Given the description of an element on the screen output the (x, y) to click on. 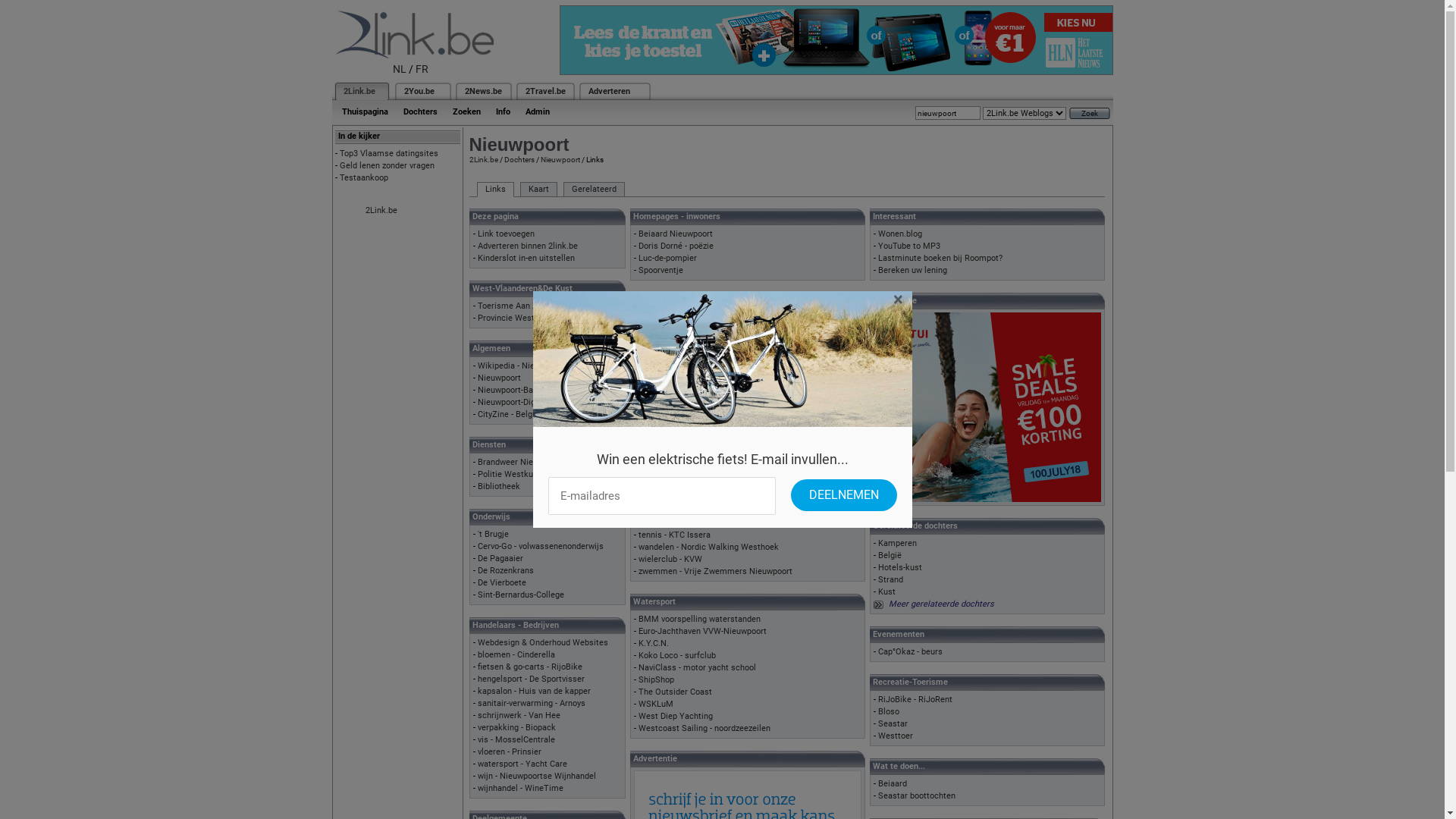
K.Y.C.N. Element type: text (653, 643)
BMM voorspelling waterstanden Element type: text (699, 619)
Seastar Element type: text (892, 723)
Reuzengilde Nieuwpoort Element type: text (683, 426)
zwemmen - Vrije Zwemmers Nieuwpoort Element type: text (715, 571)
West Diep Yachting Element type: text (675, 716)
tafeltennis Element type: text (658, 522)
Webdesign & Onderhoud Websites Element type: text (542, 642)
Strand Element type: text (890, 579)
Testaankoop Element type: text (363, 177)
Hotels-kust Element type: text (900, 567)
Adverteren binnen 2link.be Element type: text (527, 246)
vis - MosselCentrale Element type: text (516, 739)
CityZine - Belgische Kust Element type: text (524, 414)
Meer gerelateerde dochters Element type: text (941, 603)
Slotracing Element type: text (657, 450)
Chiro - De Branding Element type: text (674, 318)
2Travel.be Element type: text (544, 91)
2Link.be Element type: text (358, 91)
Zoek Element type: text (1089, 113)
Kinderslot in-en uitstellen Element type: text (525, 258)
Natuurpunt Westkust Element type: text (678, 402)
Lastminute boeken bij Roompot? Element type: text (940, 258)
2Link.be Element type: text (381, 210)
Provincie West-Vlaanderen Element type: text (528, 318)
taekwondo - Chindojang Element type: text (683, 510)
Nieuwpoort Element type: text (559, 159)
Links Element type: text (494, 189)
Nieuwpoort-Digitaal Element type: text (514, 402)
't Brugje Element type: text (492, 534)
Westcoast Sailing - noordzeezeilen Element type: text (704, 728)
RiJoBike - RiJoRent Element type: text (915, 699)
ShipShop Element type: text (656, 679)
Politie Westkust Element type: text (508, 474)
2News.be Element type: text (482, 91)
Bereken uw lening Element type: text (912, 270)
fietsen & go-carts - RijoBike Element type: text (529, 666)
De Rozenkrans Element type: text (505, 570)
tennis - KTC Issera Element type: text (674, 534)
Sint-Bernardus-College Element type: text (520, 594)
5-art Element type: text (646, 390)
Luc-de-pompier Element type: text (667, 258)
schrijnwerk - Van Hee Element type: text (518, 715)
Thuispagina Element type: text (364, 111)
Cervo-Go - volwassenenonderwijs Element type: text (540, 546)
Wonen.blog Element type: text (900, 233)
Zoeken Element type: text (465, 111)
Bloso Element type: text (888, 711)
Top3 Vlaamse datingsites Element type: text (388, 153)
Dochters Element type: text (518, 159)
2You.be Element type: text (418, 91)
Wikipedia - Nieuwpoort Element type: text (520, 365)
hengelsport - De Sportvisser Element type: text (530, 679)
bloemen - Cinderella Element type: text (516, 654)
The Outsider Coast Element type: text (675, 691)
Link toevoegen Element type: text (505, 233)
Rode Kruis Element type: text (658, 438)
Beiaard Nieuwpoort Element type: text (675, 233)
Gerelateerd Element type: text (593, 189)
Beiaard Element type: text (892, 783)
wandelen - Nordic Walking Westhoek Element type: text (708, 547)
Studenten-club - Sliekmussel Element type: text (693, 342)
Westtoer Element type: text (895, 735)
Nieuwpoort-Bad Element type: text (507, 390)
Info Element type: text (502, 111)
Spoorventje Element type: text (660, 270)
FR Element type: text (421, 68)
watersport - Yacht Care Element type: text (522, 763)
Nieuwpoort Concert Band Element type: text (686, 414)
wijn - Nieuwpoortse Wijnhandel Element type: text (536, 776)
Adverteren Element type: text (609, 91)
Brandweer Nieuwpoort Element type: text (520, 462)
wijnhandel - WineTime Element type: text (520, 788)
De Pagaaier Element type: text (500, 558)
Kaart Element type: text (538, 189)
Kamperen Element type: text (897, 543)
Kust Element type: text (886, 591)
Nieuwpoort Element type: text (498, 377)
WSKLuM Element type: text (655, 704)
Willemsfonds Element type: text (664, 462)
kapsalon - Huis van de kapper Element type: text (533, 691)
Sea-Scouting Element type: text (663, 330)
Koko Loco - surfclub Element type: text (676, 655)
wielerclub - KVW Element type: text (670, 559)
NaviClass - motor yacht school Element type: text (697, 667)
NL Element type: text (399, 68)
Toerisme Aan Zee Element type: text (511, 305)
2Link.be Element type: text (482, 159)
Euro-Jachthaven VVW-Nieuwpoort Element type: text (702, 631)
Admin Element type: text (536, 111)
Seastar boottochten Element type: text (916, 795)
Dochters Element type: text (420, 111)
YouTube to MP3 Element type: text (909, 246)
Bibliotheek Element type: text (498, 486)
sanitair-verwarming - Arnoys Element type: text (531, 703)
De Vierboete Element type: text (501, 582)
verpakking - Biopack Element type: text (516, 727)
Geld lenen zonder vragen Element type: text (386, 165)
vloeren - Prinsier Element type: text (509, 751)
